Given the description of an element on the screen output the (x, y) to click on. 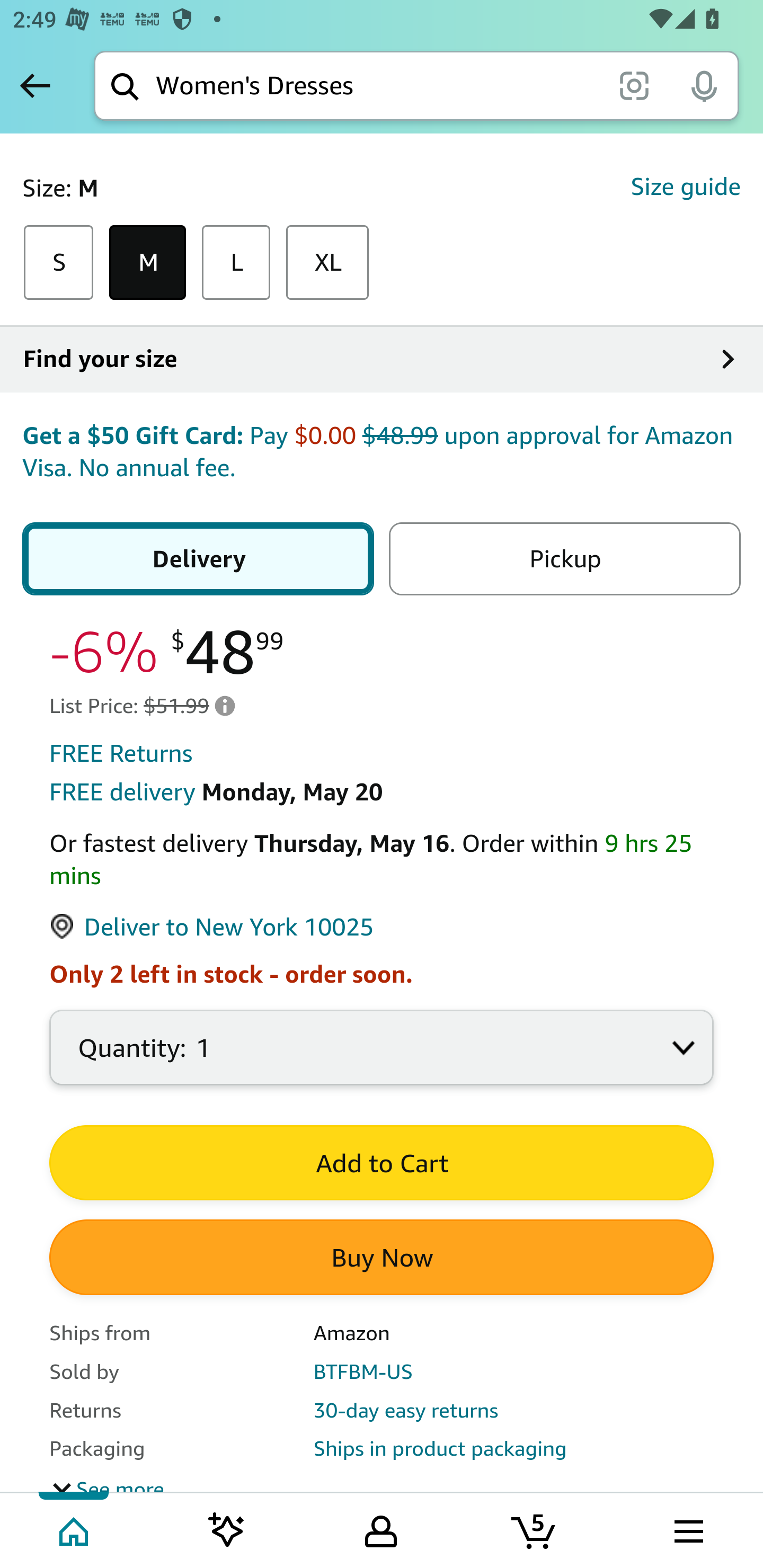
Back (35, 85)
scan it (633, 85)
Size guide (684, 187)
S (58, 263)
M (147, 263)
L (236, 263)
XL (327, 263)
Find your size (381, 360)
Delivery (201, 559)
Pickup (560, 559)
Learn more about Amazon pricing and savings (225, 706)
FREE Returns (121, 755)
FREE delivery (122, 794)
Deliver to New York 10025‌ (212, 929)
1 (381, 1059)
Add to Cart (381, 1164)
Buy Now (381, 1258)
BTFBM-US (362, 1372)
Home Tab 1 of 5 (75, 1529)
Inspire feed Tab 2 of 5 (227, 1529)
Your Amazon.com Tab 3 of 5 (380, 1529)
Cart 5 items Tab 4 of 5 5 (534, 1529)
Browse menu Tab 5 of 5 (687, 1529)
